Given the description of an element on the screen output the (x, y) to click on. 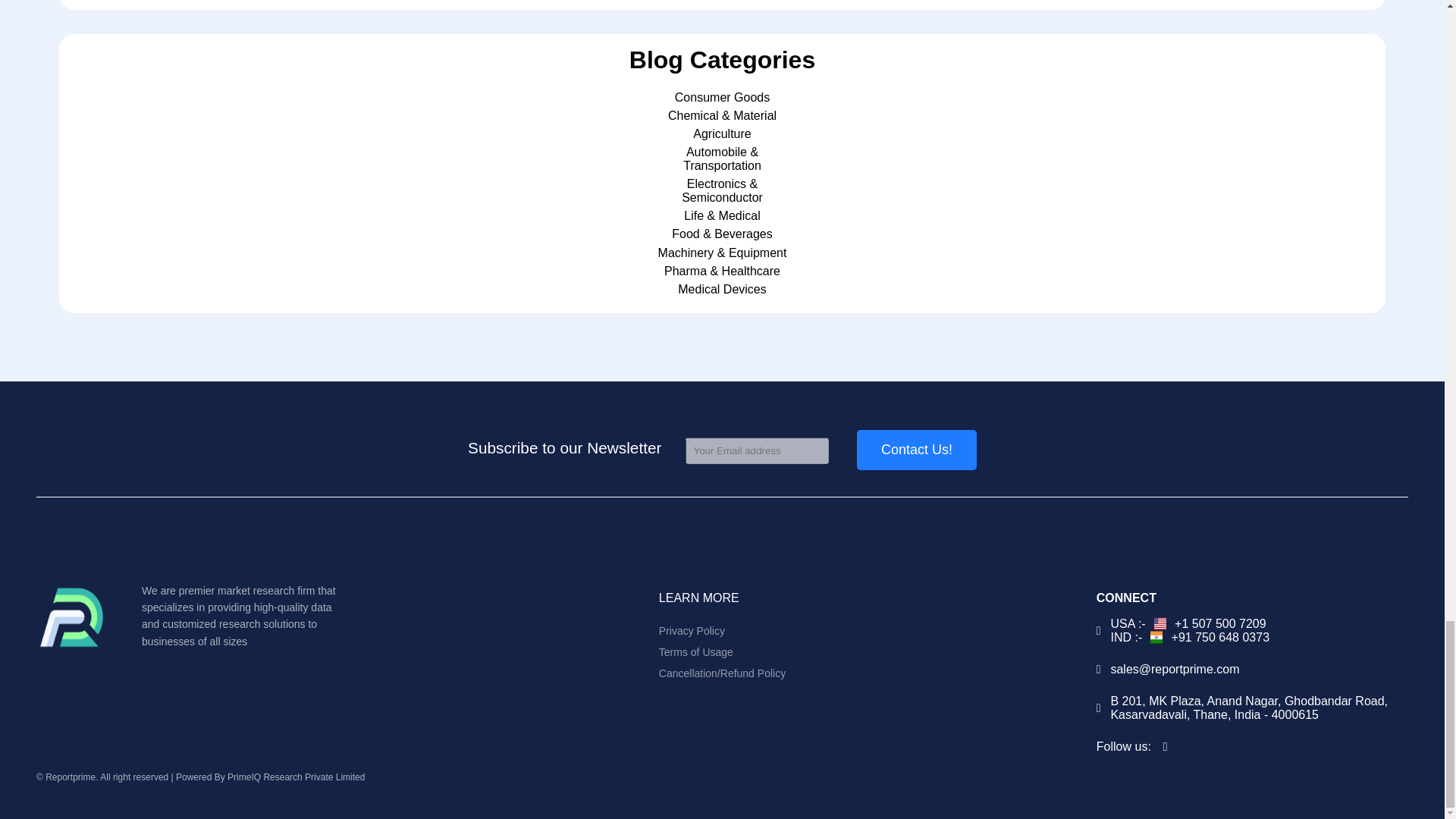
Consumer Goods (722, 97)
Agriculture (722, 133)
